Given the description of an element on the screen output the (x, y) to click on. 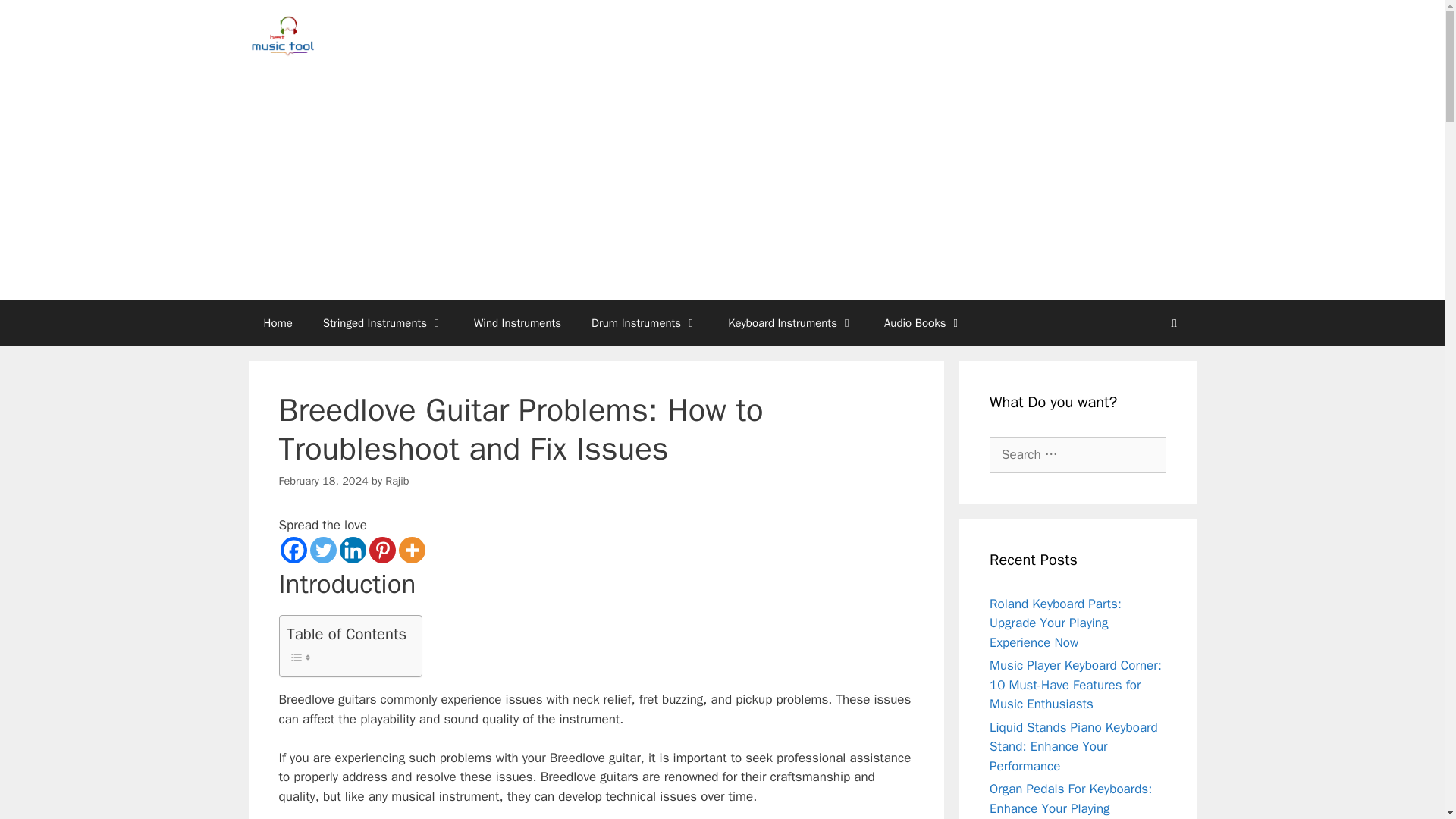
View all posts by Rajib (397, 480)
Stringed Instruments (382, 322)
Home (277, 322)
Linkedin (352, 550)
Pinterest (381, 550)
Twitter (322, 550)
Facebook (294, 550)
More (411, 550)
